Given the description of an element on the screen output the (x, y) to click on. 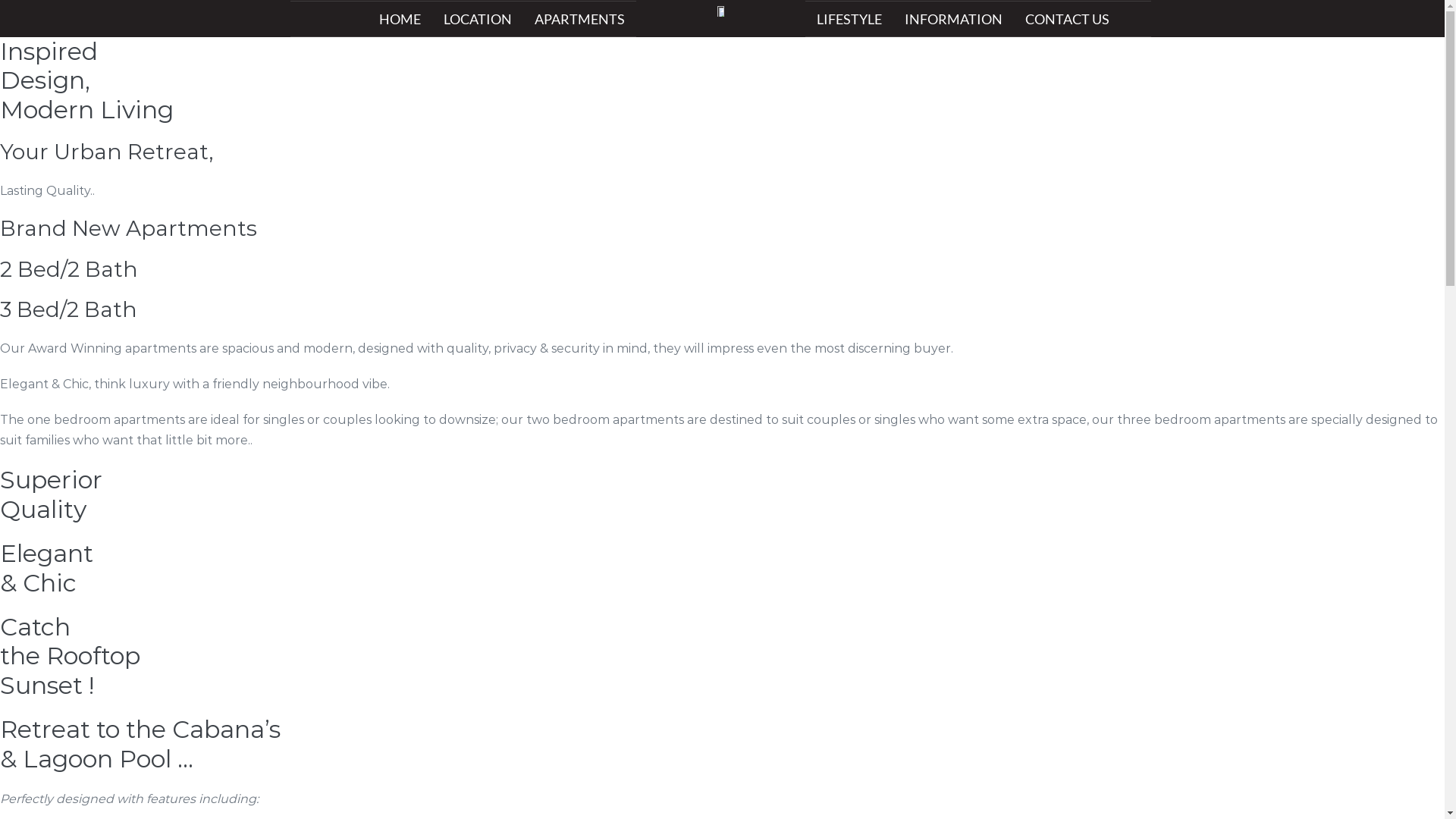
INFORMATION Element type: text (953, 18)
LOCATION Element type: text (477, 18)
CONTACT US Element type: text (1066, 18)
LIFESTYLE Element type: text (849, 18)
HOME Element type: text (399, 18)
APARTMENTS Element type: text (579, 18)
